Given the description of an element on the screen output the (x, y) to click on. 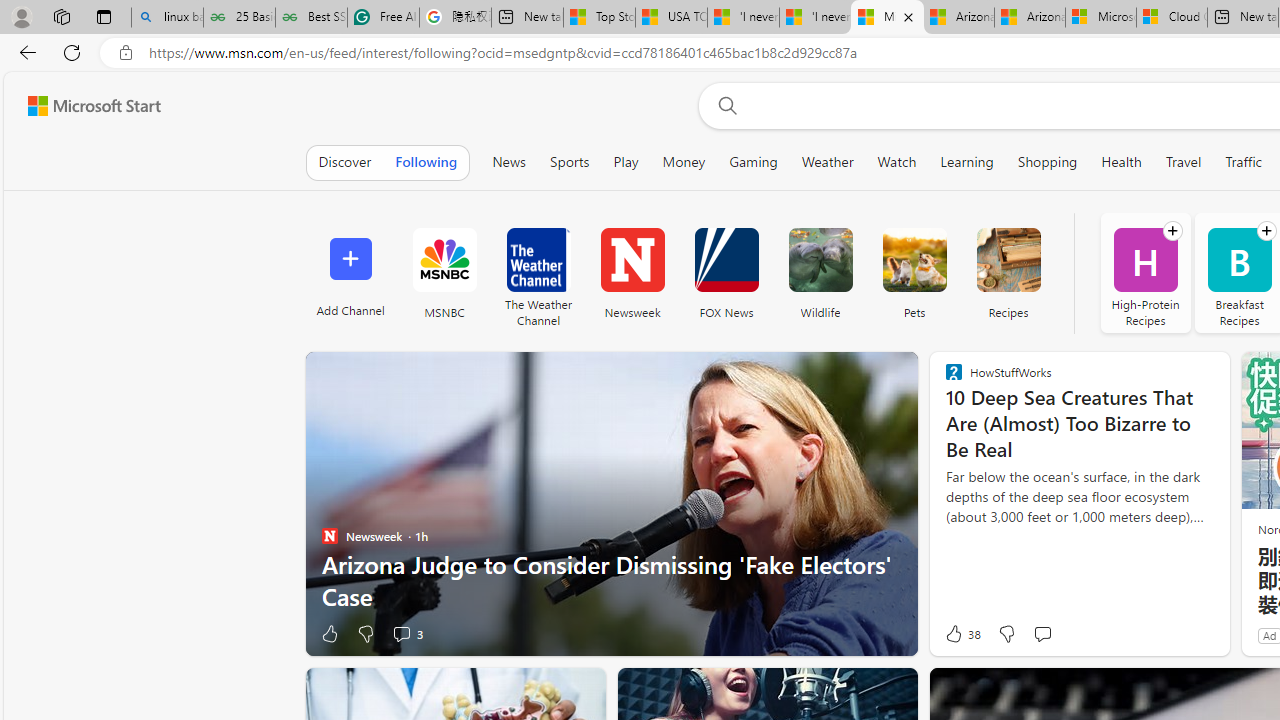
MSNBC (444, 272)
Weather (827, 162)
Cloud Computing Services | Microsoft Azure (1171, 17)
The Weather Channel (537, 260)
The Weather Channel (537, 272)
MSNBC (444, 260)
linux basic - Search (167, 17)
25 Basic Linux Commands For Beginners - GeeksforGeeks (239, 17)
Watch (897, 161)
